Given the description of an element on the screen output the (x, y) to click on. 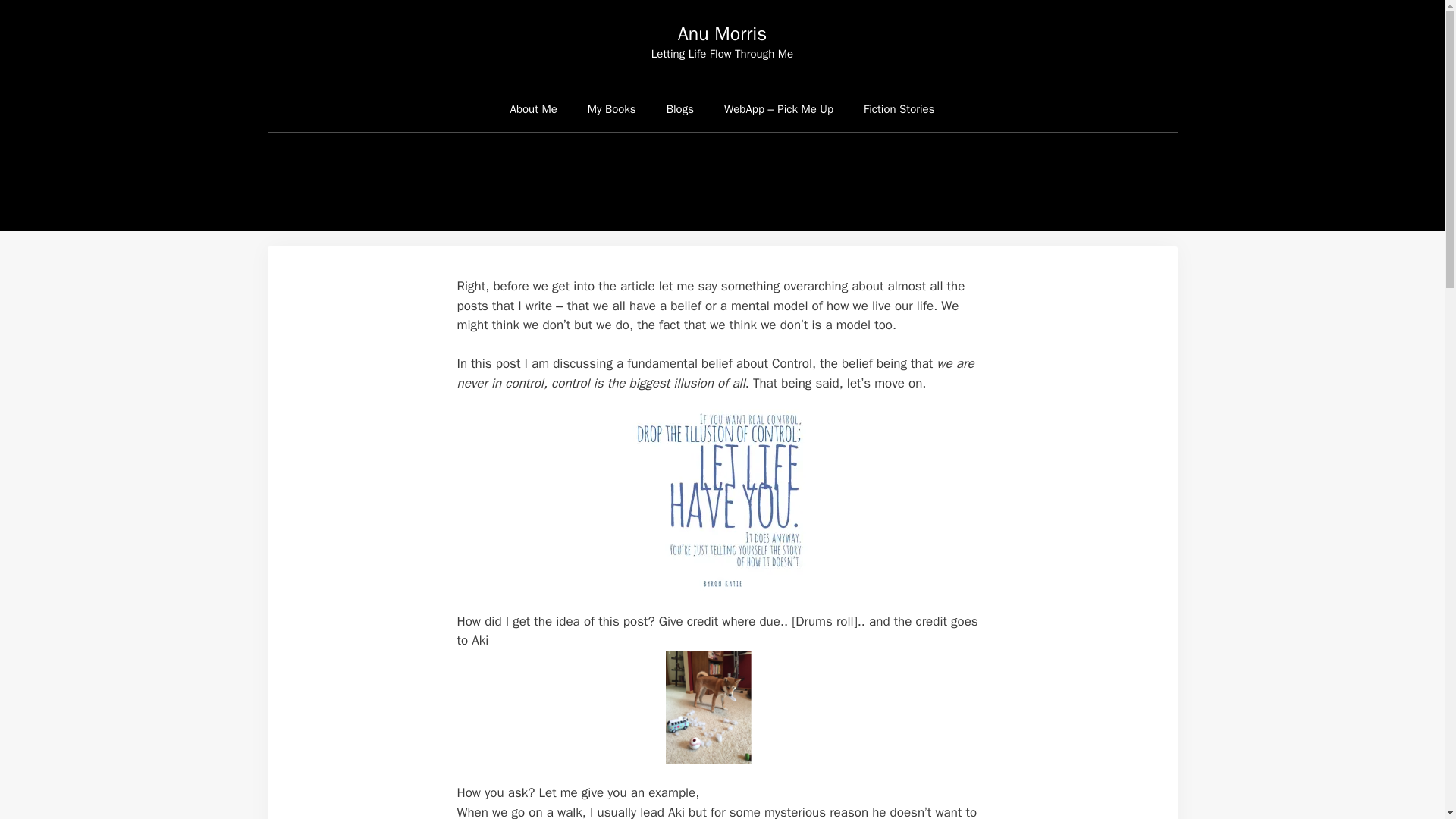
My Books (611, 109)
Blogs (679, 109)
Fiction Stories (898, 109)
About Me (533, 109)
Anu Morris (722, 33)
